Given the description of an element on the screen output the (x, y) to click on. 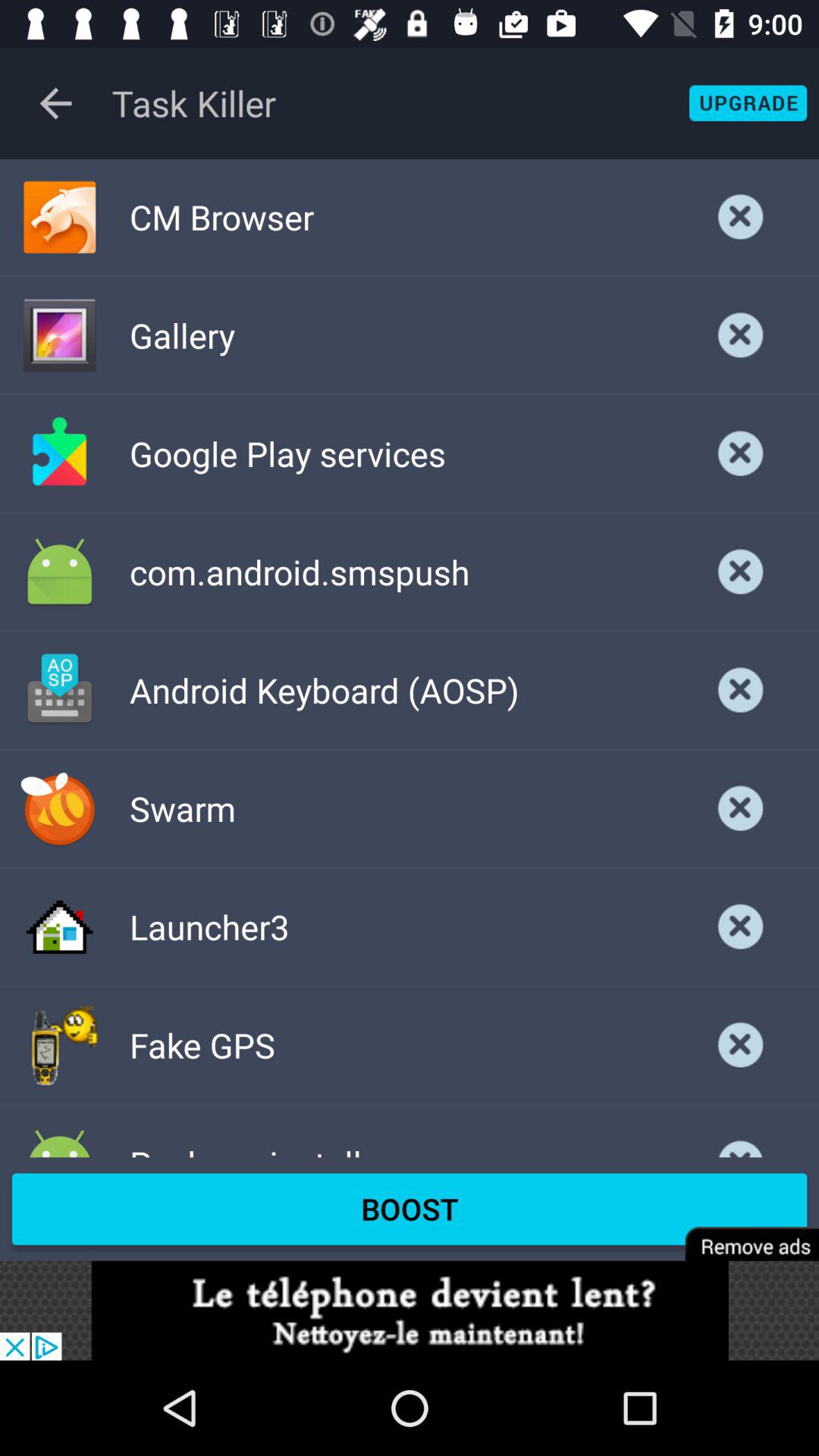
toggle advertisement (409, 1310)
